Given the description of an element on the screen output the (x, y) to click on. 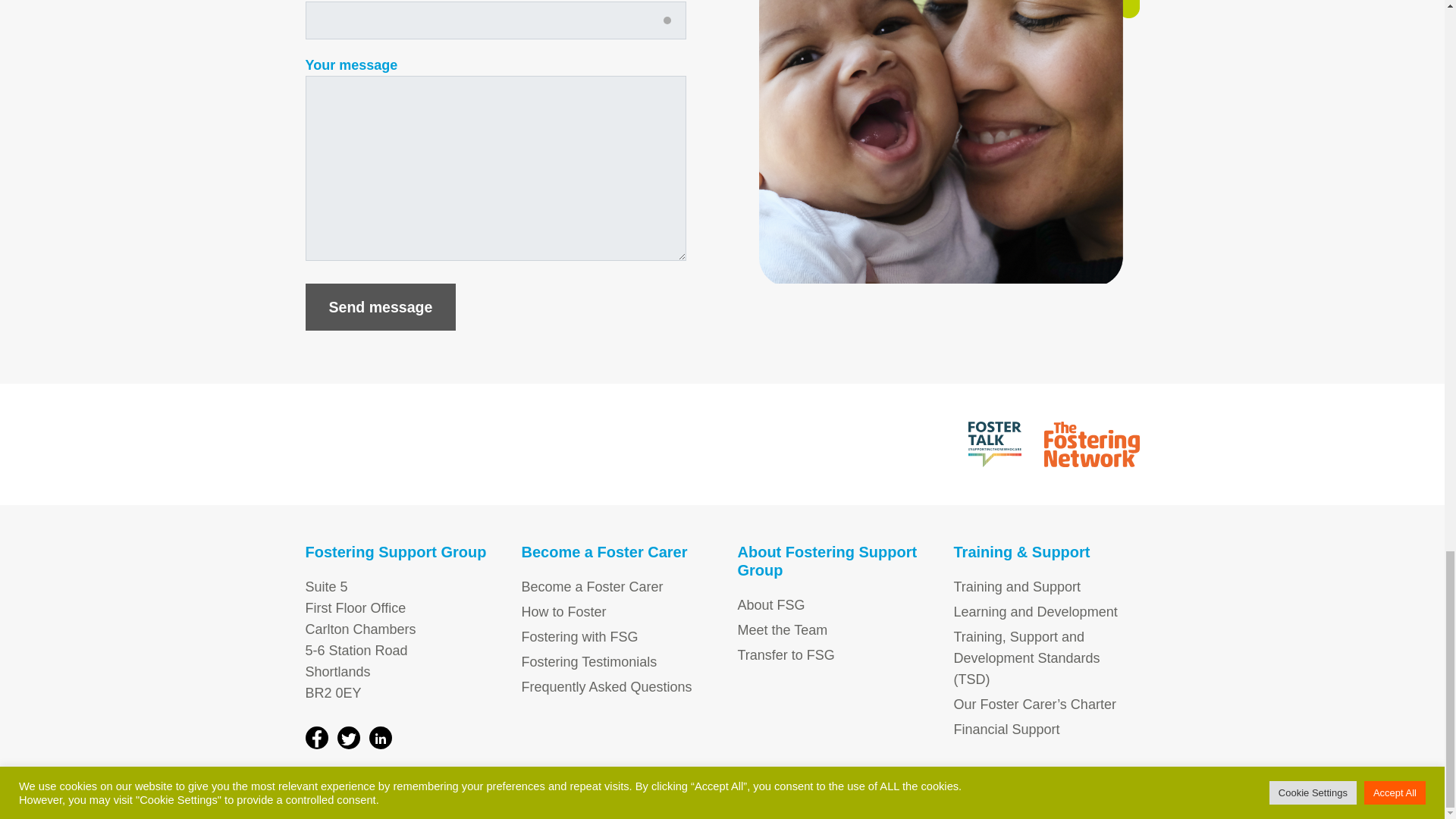
Become a Foster Carer (592, 586)
Fostering Testimonials (589, 661)
Meet the Team (781, 630)
Transfer to FSG (785, 654)
Fostering with FSG (580, 636)
How to Foster (564, 611)
Frequently Asked Questions (607, 686)
About FSG (770, 604)
Send message (379, 306)
